Given the description of an element on the screen output the (x, y) to click on. 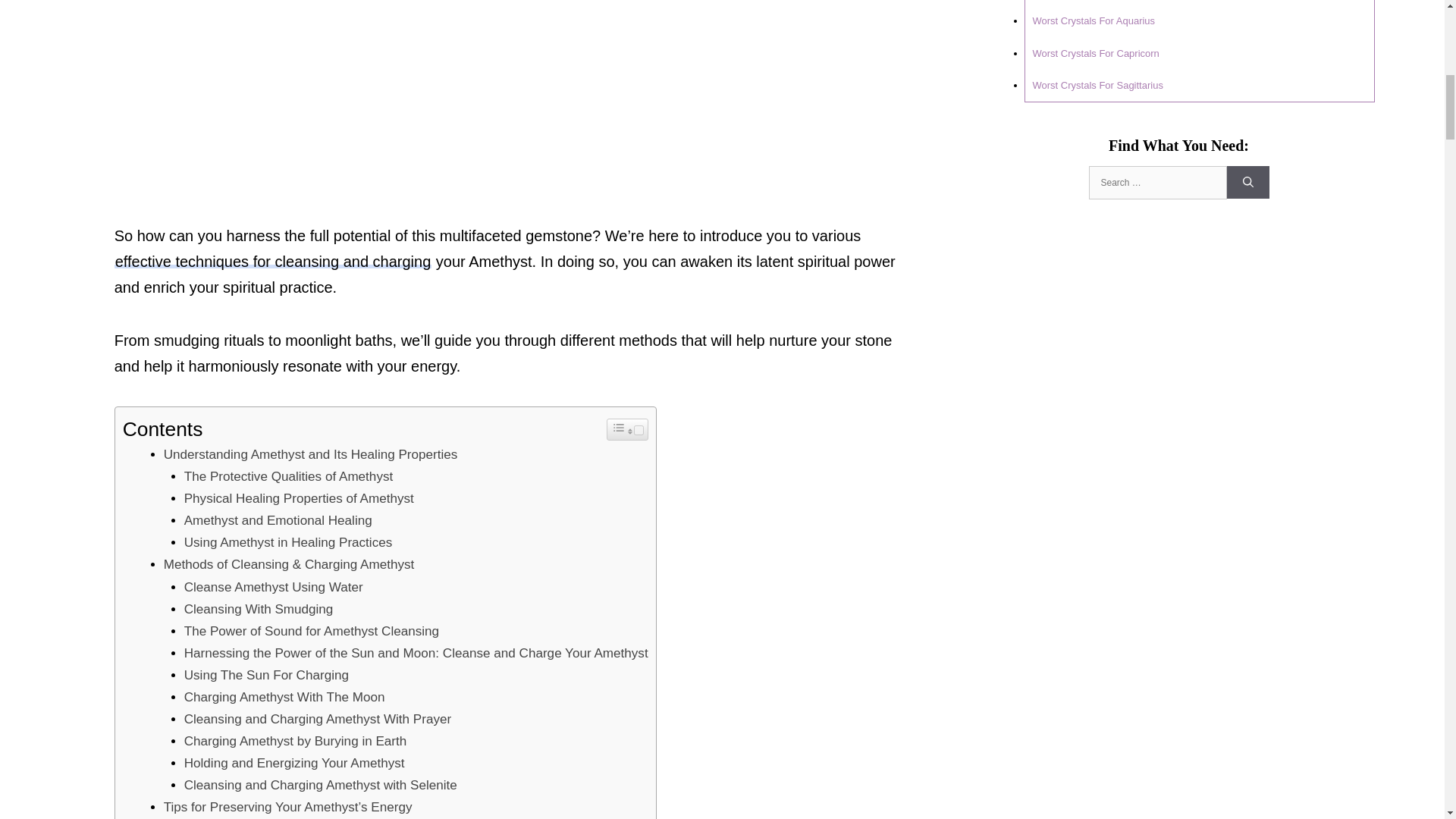
Physical Healing Properties of Amethyst (298, 498)
Using The Sun For Charging (266, 675)
Cleansing With Smudging (258, 608)
Charging Amethyst With The Moon (284, 697)
effective techniques for cleansing and charging (273, 261)
Understanding Amethyst and Its Healing Properties (310, 454)
Using Amethyst in Healing Practices (288, 542)
The Protective Qualities of Amethyst (288, 476)
Amethyst and Emotional Healing (278, 520)
The Protective Qualities of Amethyst (288, 476)
Cleansing With Smudging (258, 608)
Physical Healing Properties of Amethyst (298, 498)
on (638, 429)
Cleanse Amethyst Using Water  (275, 586)
